Given the description of an element on the screen output the (x, y) to click on. 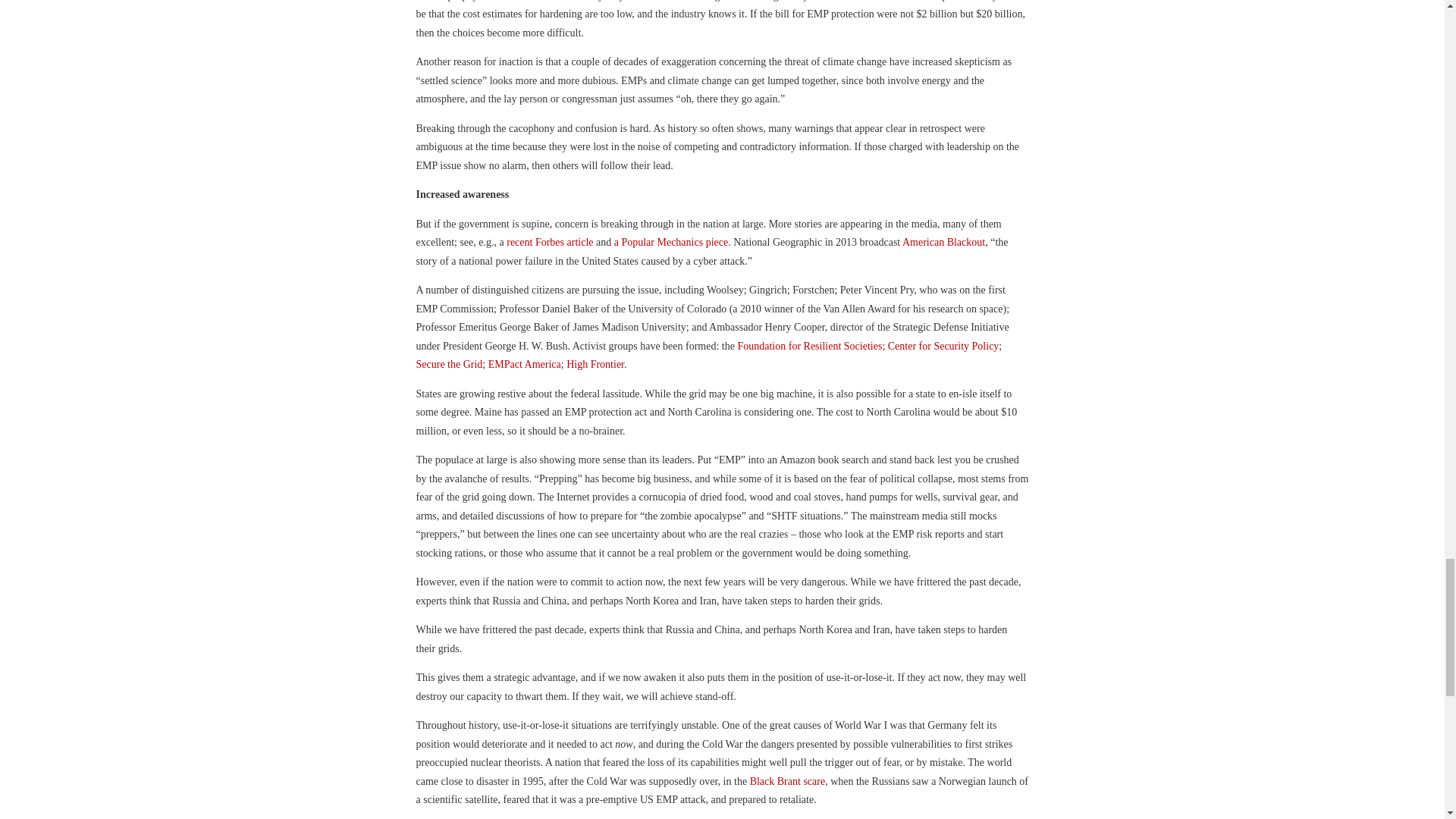
recent Forbes article (549, 242)
a Popular Mechanics piece (671, 242)
American Blackout (942, 242)
Foundation for Resilient Societies (809, 346)
